Given the description of an element on the screen output the (x, y) to click on. 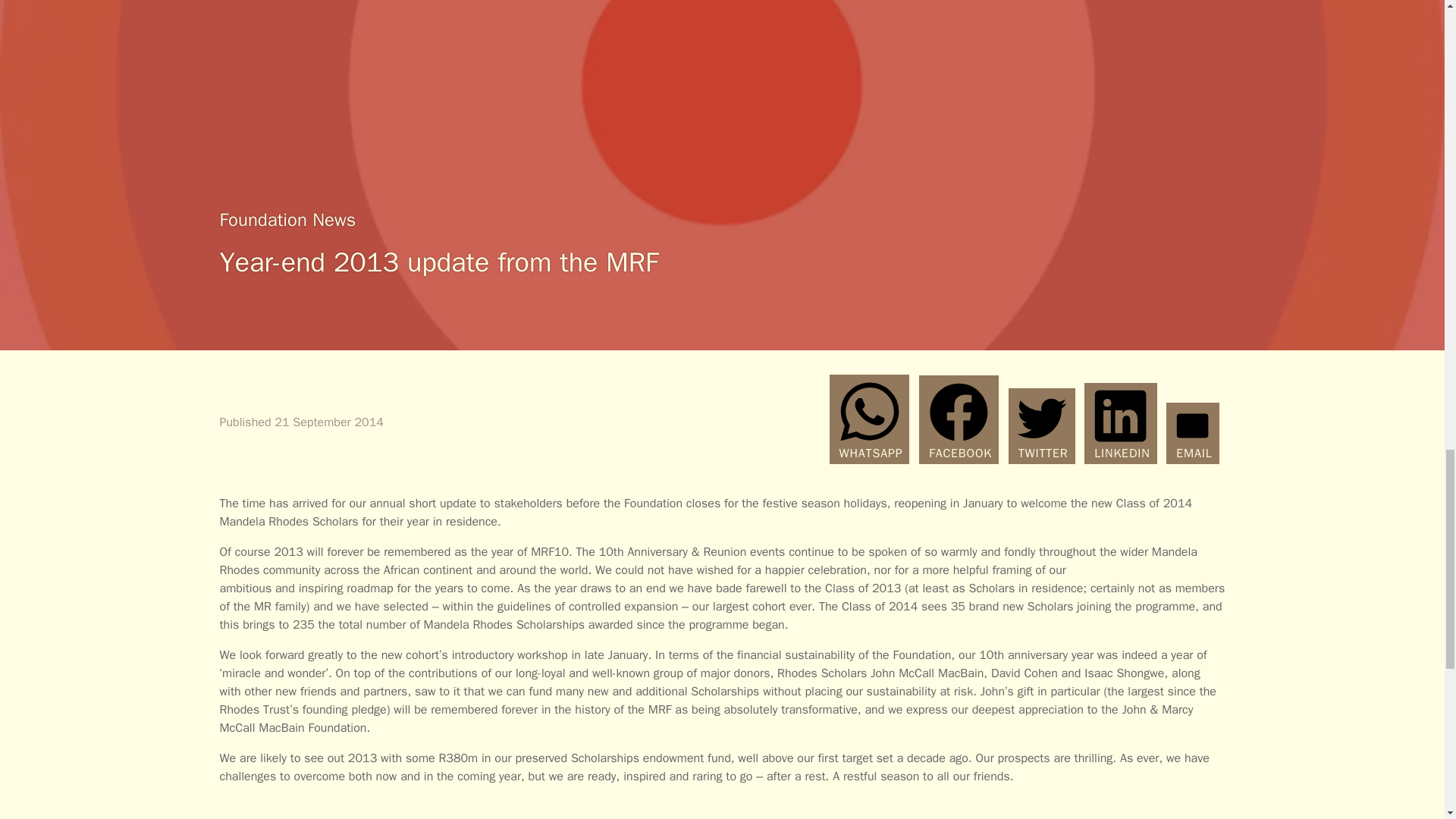
Share on Whatsapp (869, 419)
Share on Facebook (958, 419)
